Given the description of an element on the screen output the (x, y) to click on. 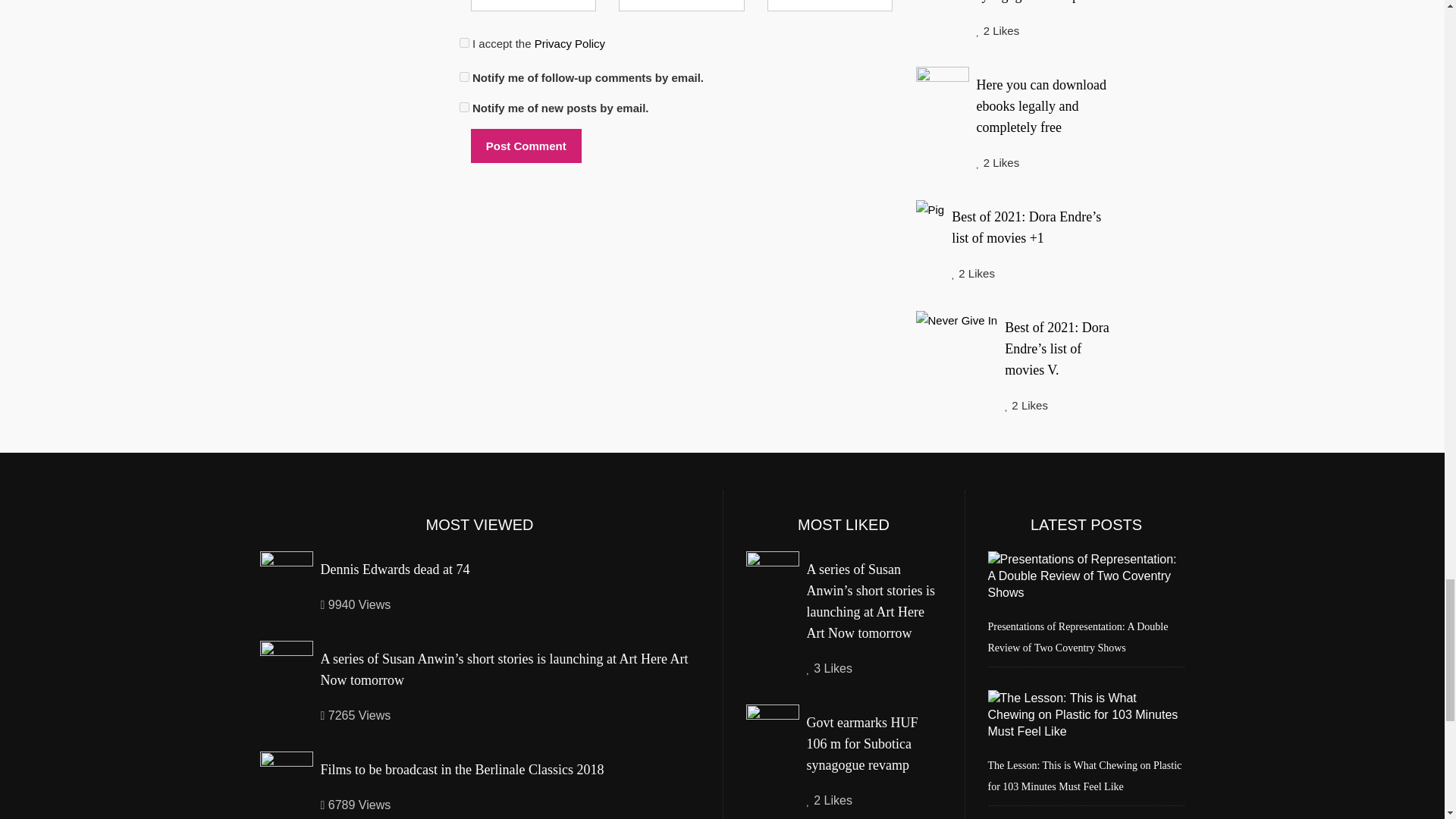
Post Comment (525, 145)
1 (464, 42)
subscribe (464, 76)
subscribe (464, 107)
